Given the description of an element on the screen output the (x, y) to click on. 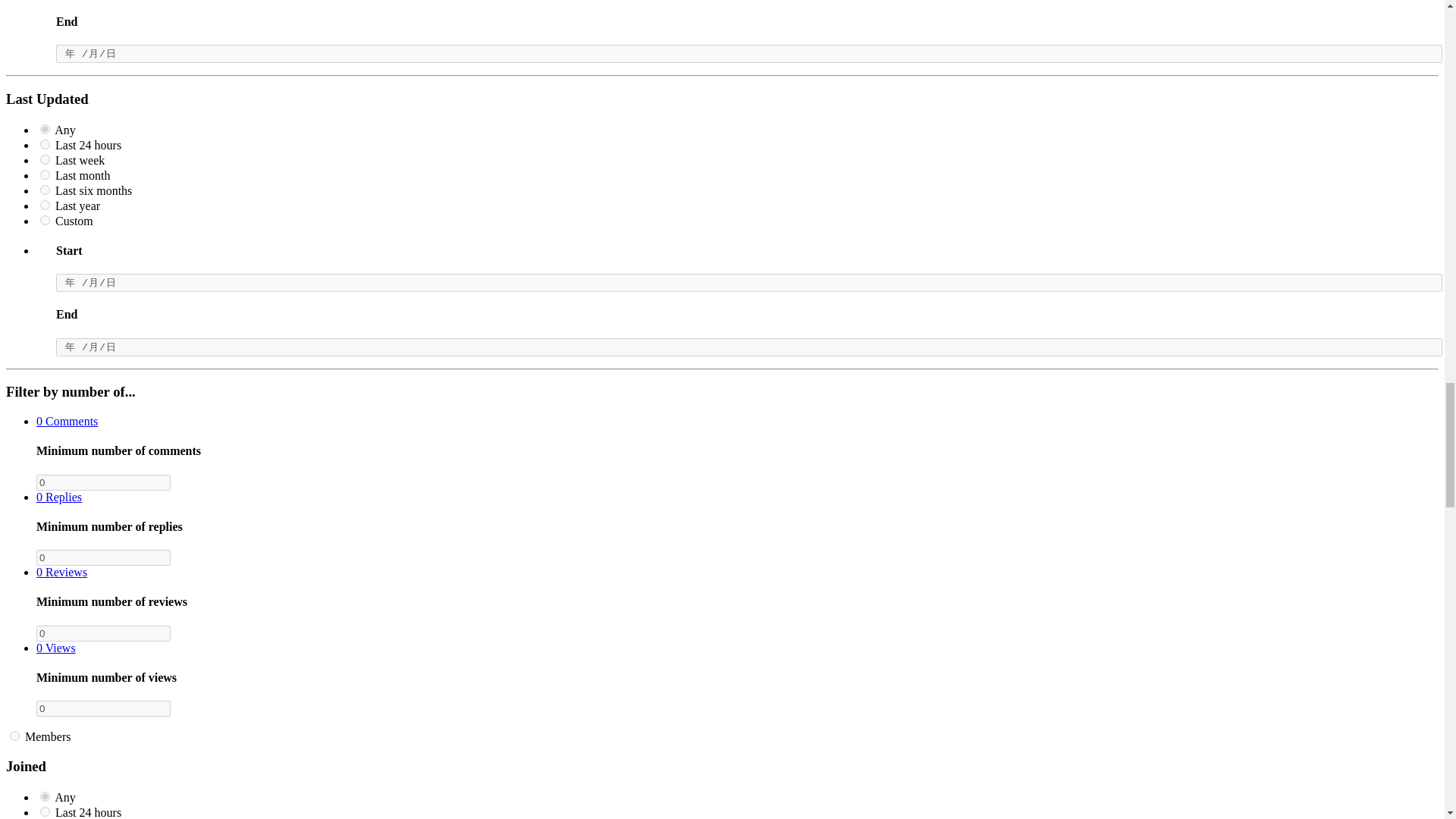
0 Replies (58, 496)
0 Reviews (61, 571)
0 Comments (66, 420)
0 Views (55, 647)
